Given the description of an element on the screen output the (x, y) to click on. 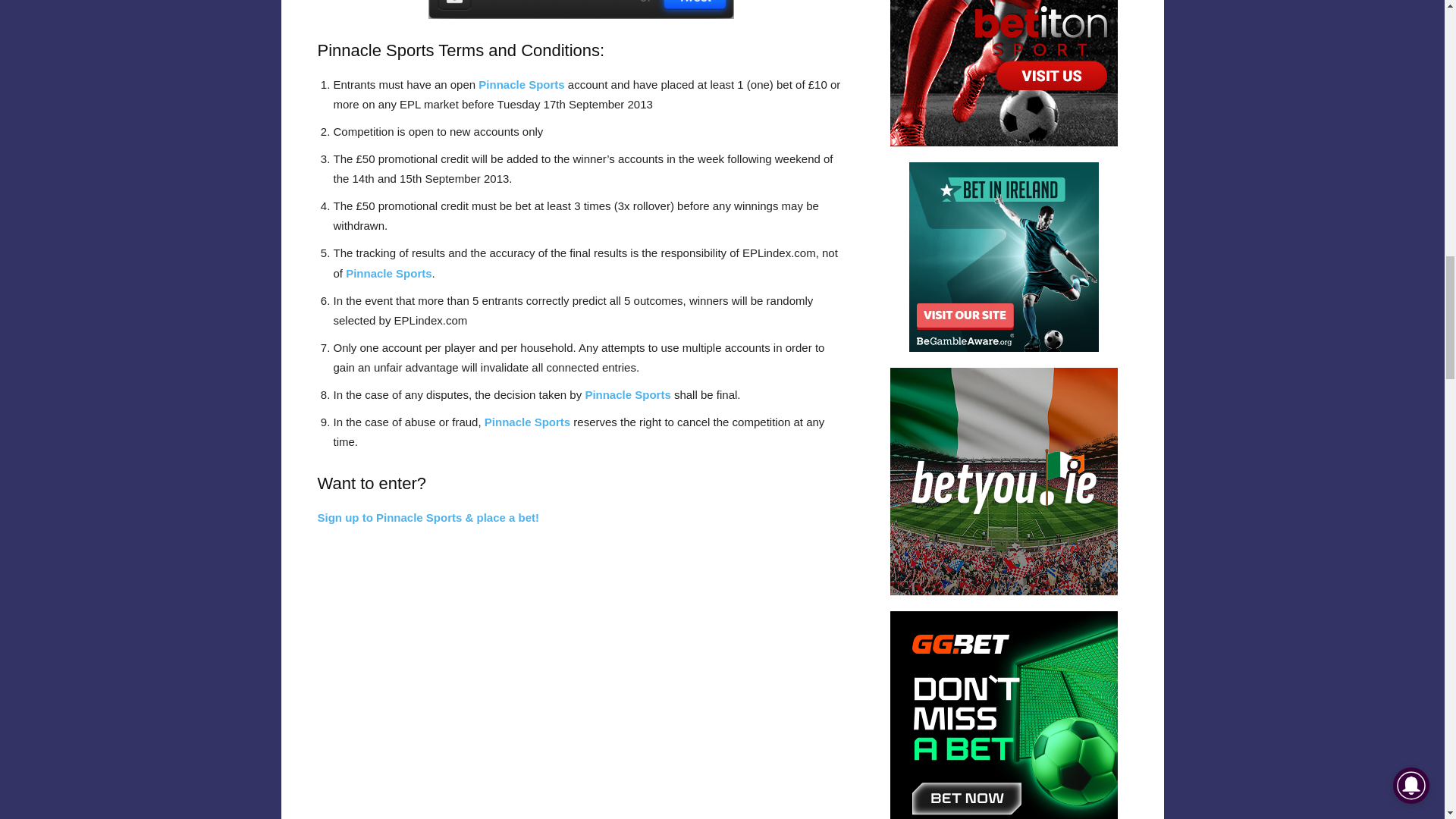
Pinnacle Sports (521, 83)
Pinnacle Sports (375, 49)
Pinnacle Sports (388, 273)
online sports betting at Betiton UK (1003, 73)
